Given the description of an element on the screen output the (x, y) to click on. 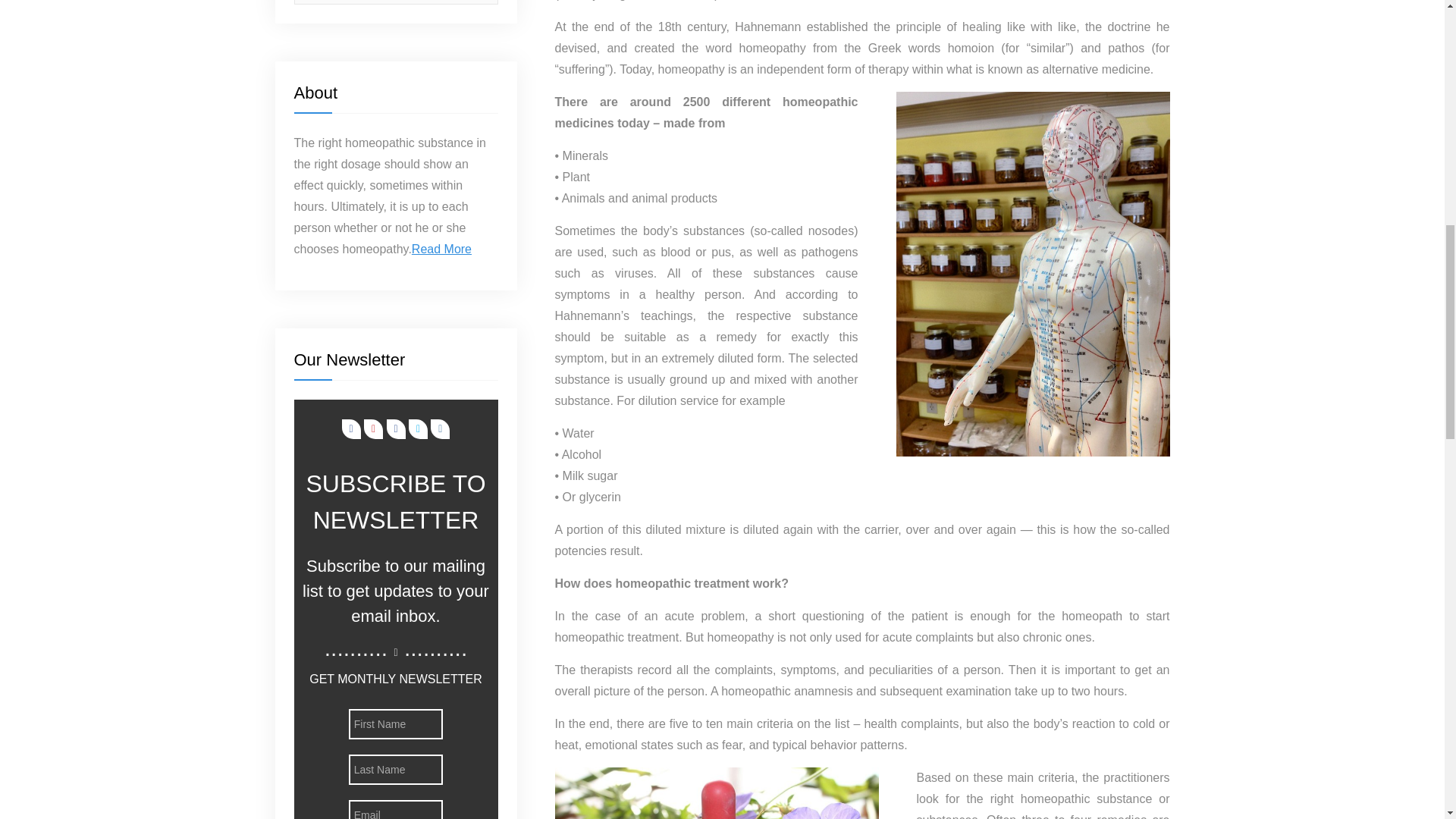
Read More (441, 248)
